Given the description of an element on the screen output the (x, y) to click on. 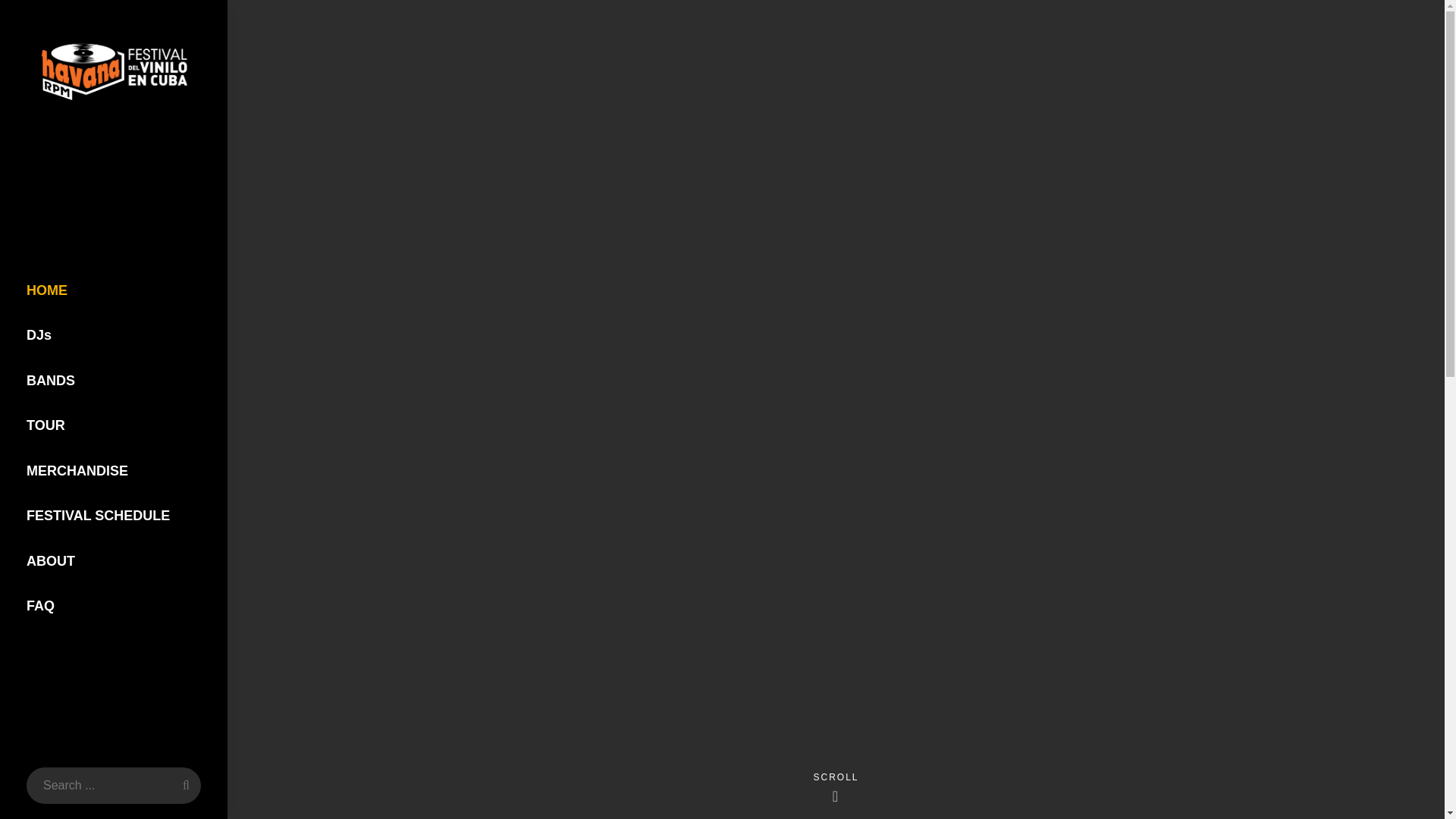
BANDS (113, 381)
Search for: (113, 785)
DJs (113, 335)
FESTIVAL SCHEDULE (113, 515)
SCROLL (835, 783)
ABOUT (113, 561)
TOUR (113, 425)
HOME (113, 290)
FAQ (113, 606)
MERCHANDISE (113, 471)
